Given the description of an element on the screen output the (x, y) to click on. 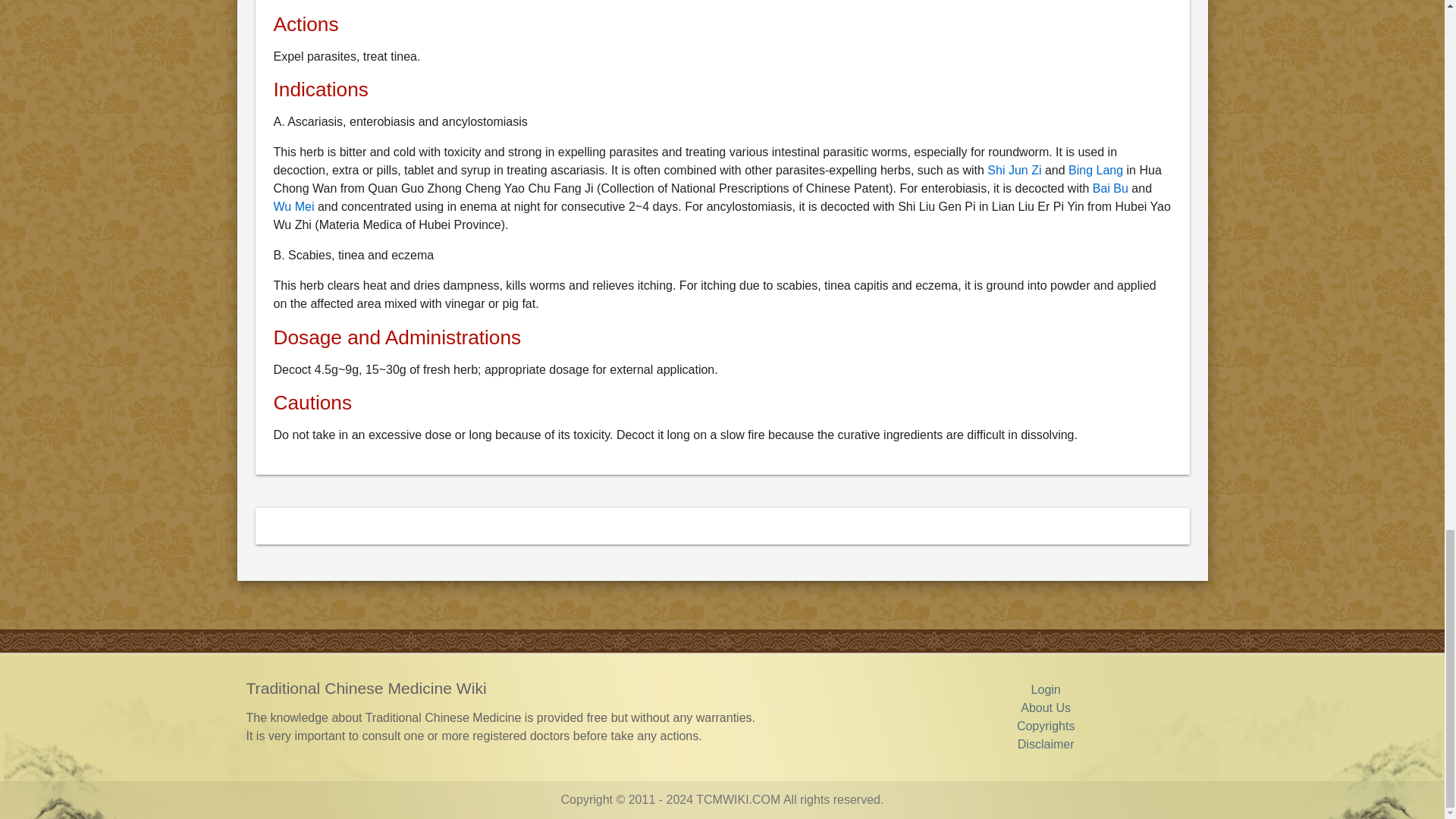
Disclaimer (1045, 744)
Wu Mei (293, 205)
Login (1045, 689)
Copyrights (1045, 725)
Bing Lang (1095, 169)
Bai Bu (1110, 187)
About Us (1045, 707)
Shi Jun Zi (1014, 169)
